Given the description of an element on the screen output the (x, y) to click on. 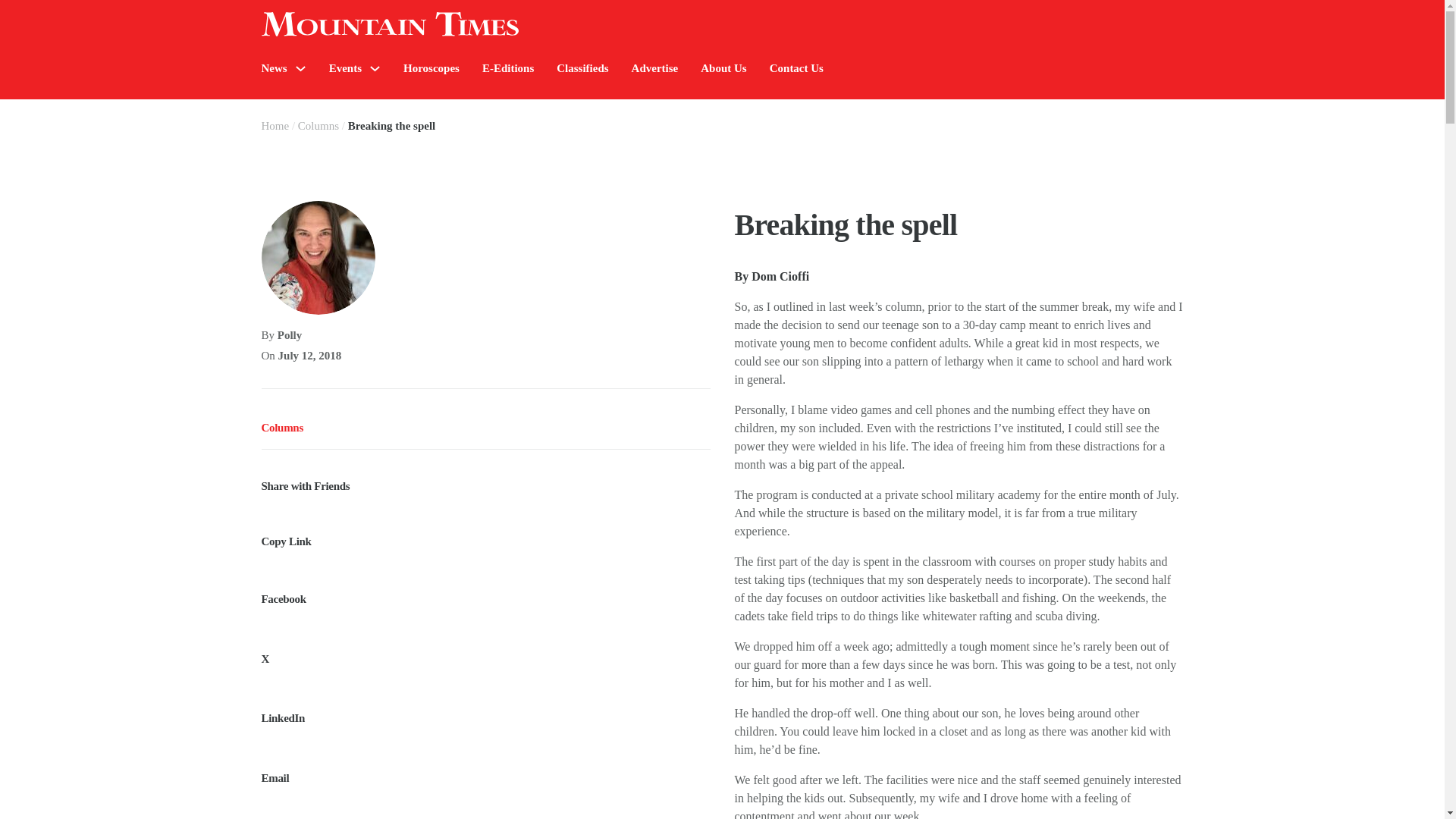
News (273, 67)
X (485, 649)
LinkedIn (485, 709)
Contact Us (797, 67)
Copy Link (485, 532)
Facebook (485, 589)
Home (274, 125)
Advertise (654, 67)
Share with Friends (485, 476)
E-Editions (507, 67)
Columns (318, 125)
Classifieds (582, 67)
Horoscopes (431, 67)
Search (1274, 114)
Email (485, 768)
